Given the description of an element on the screen output the (x, y) to click on. 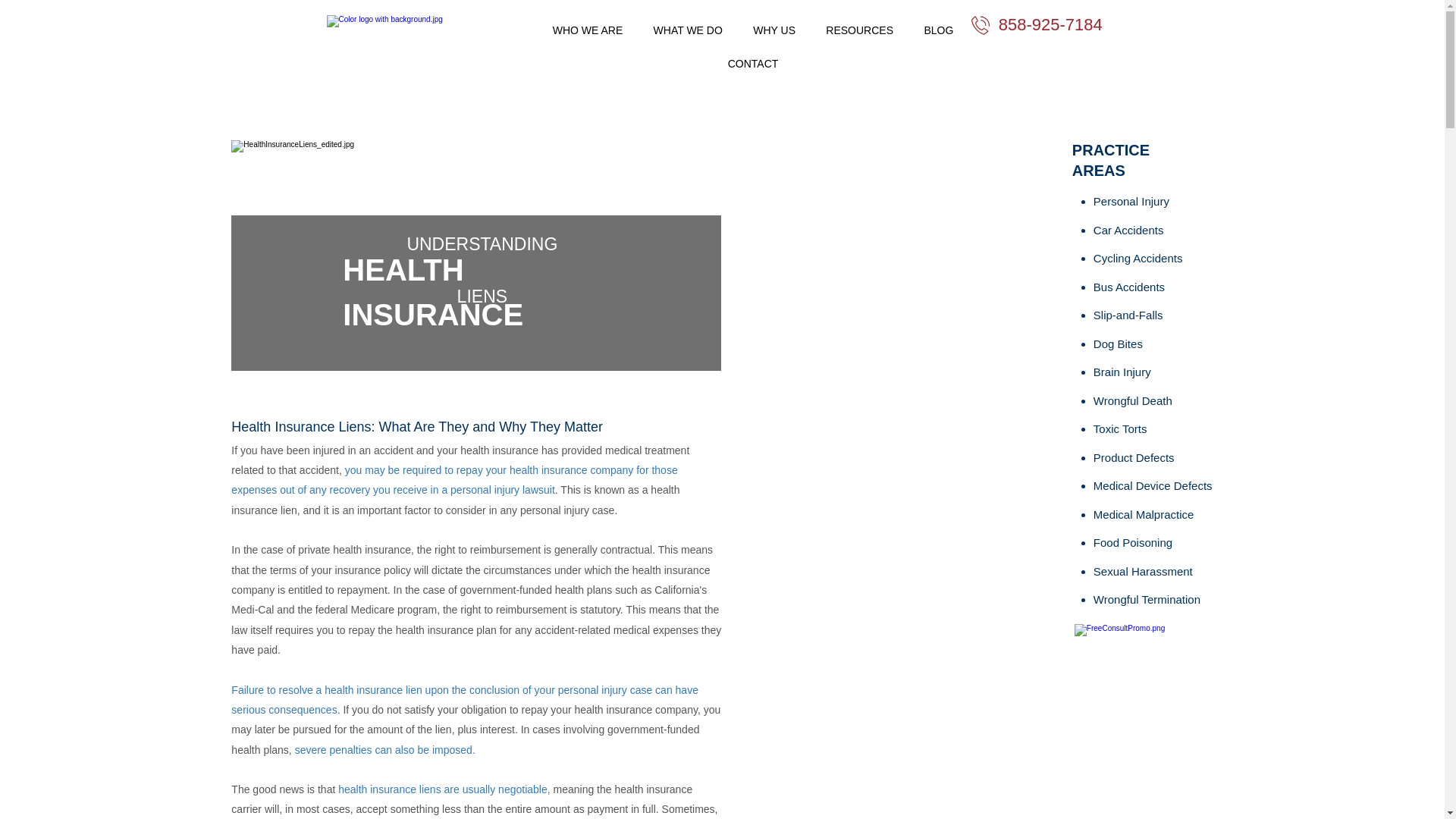
WHY US (774, 30)
WHAT WE DO (687, 30)
RESOURCES (859, 30)
Color logo - no backgroundHIGHRES.png (426, 31)
CONTACT (752, 62)
WHO WE ARE (587, 30)
BLOG (938, 30)
